Given the description of an element on the screen output the (x, y) to click on. 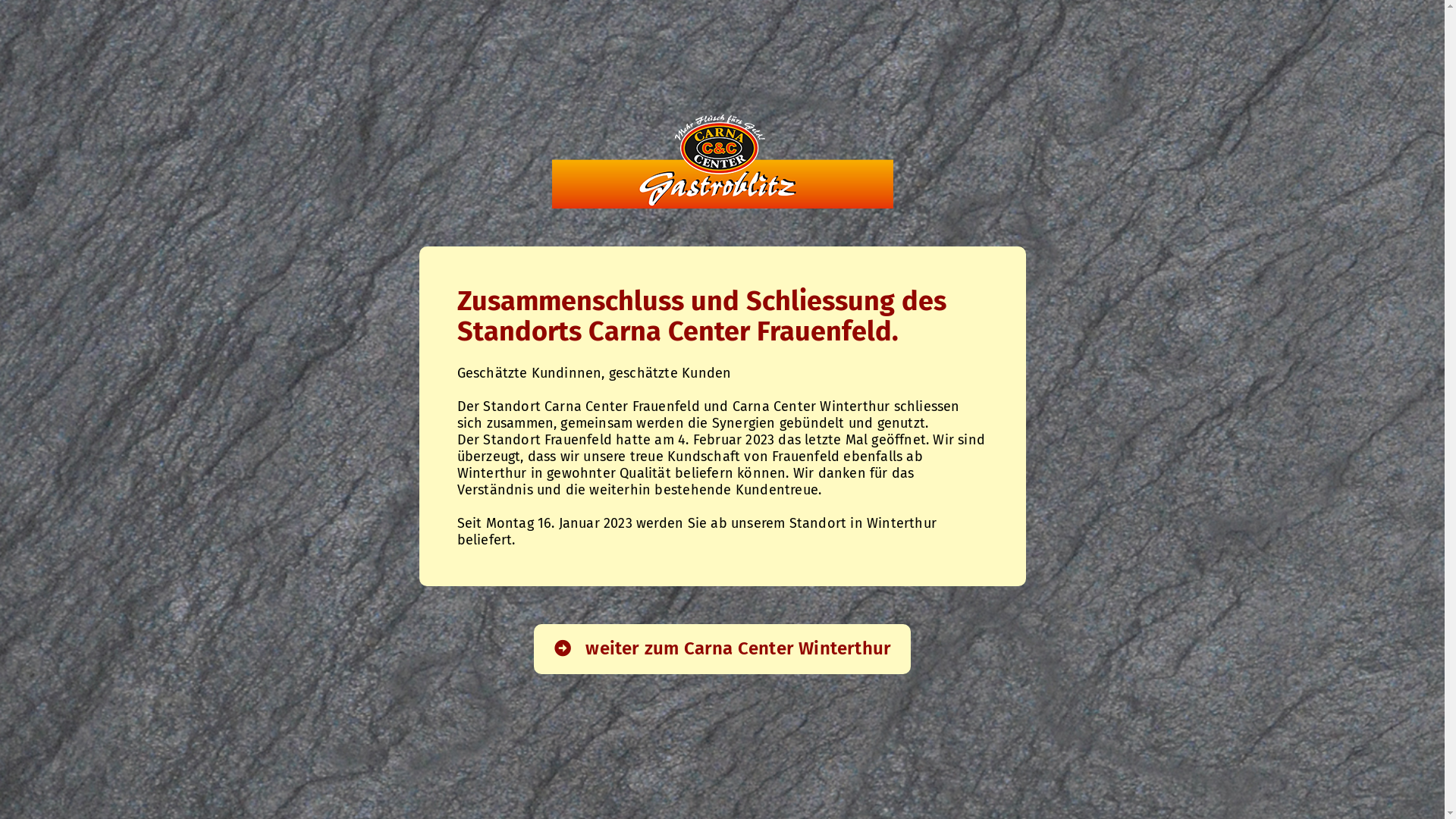
weiter zum Carna Center Winterthur Element type: text (721, 648)
